Given the description of an element on the screen output the (x, y) to click on. 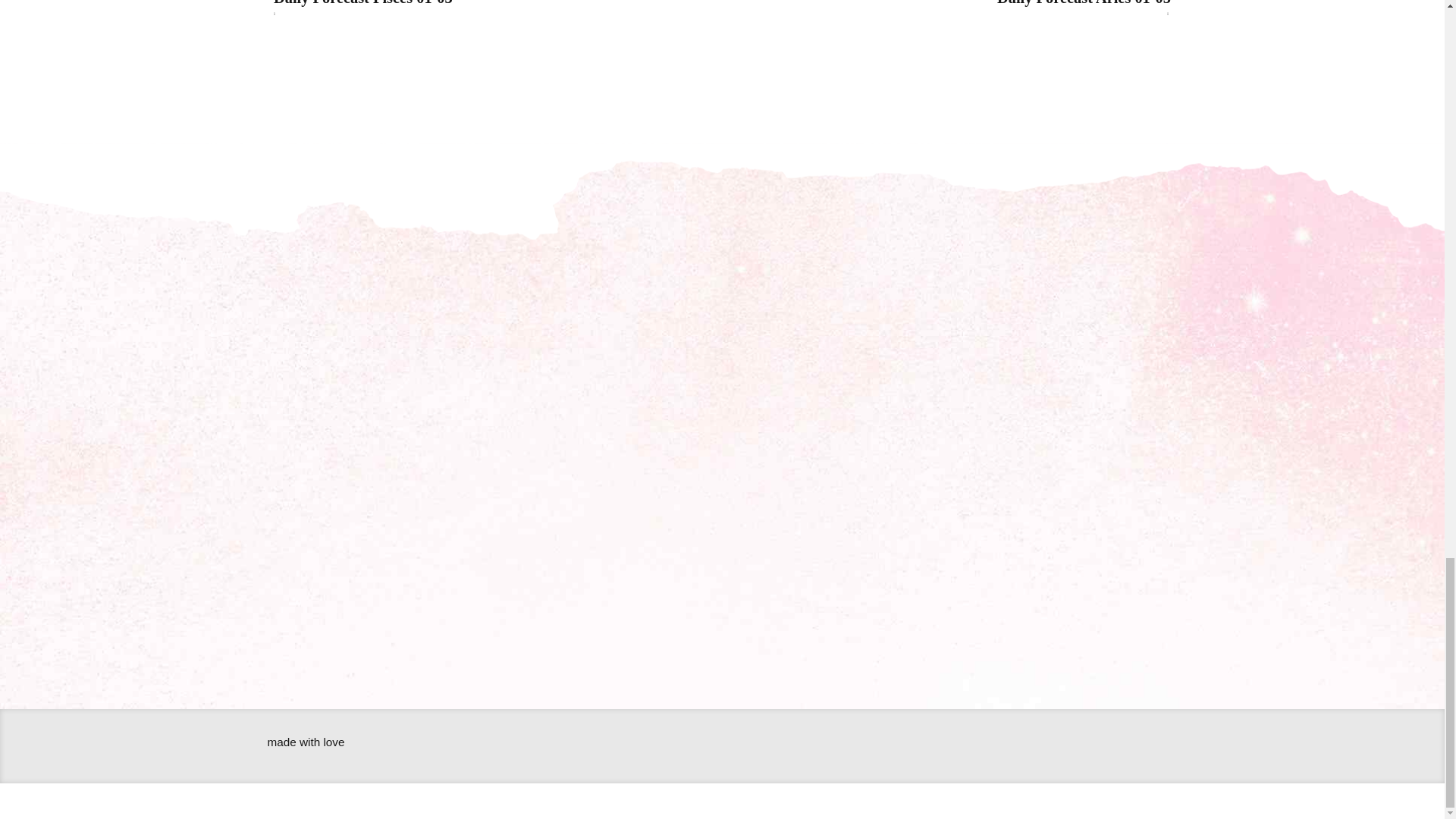
Submit (950, 570)
